Given the description of an element on the screen output the (x, y) to click on. 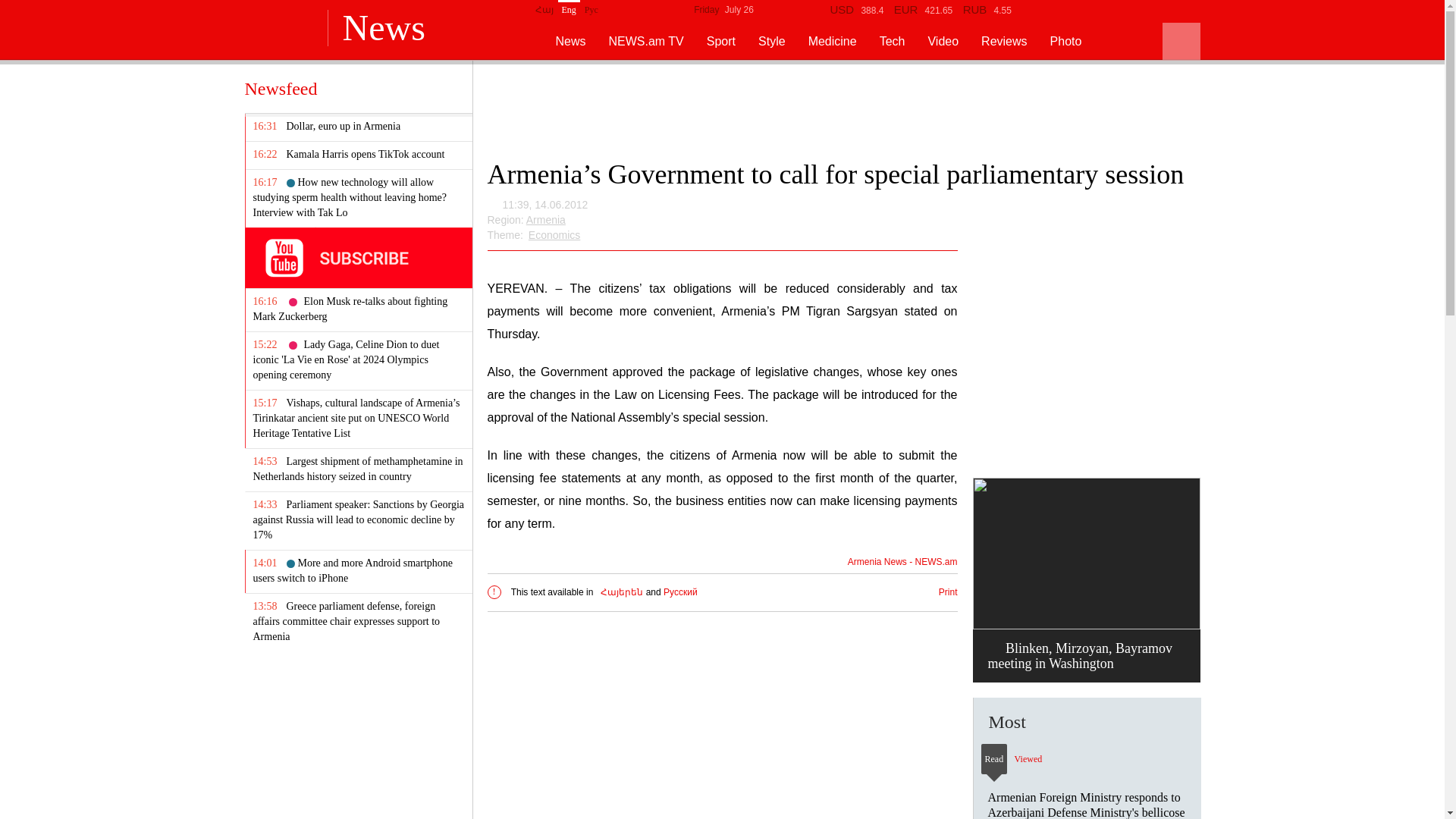
Photo (1065, 41)
Reviews (1003, 41)
Sport (720, 41)
Video (942, 41)
News (558, 41)
Style (772, 41)
Eng (568, 8)
NEWS.am TV (646, 41)
Medicine (832, 41)
Tech (892, 41)
